Given the description of an element on the screen output the (x, y) to click on. 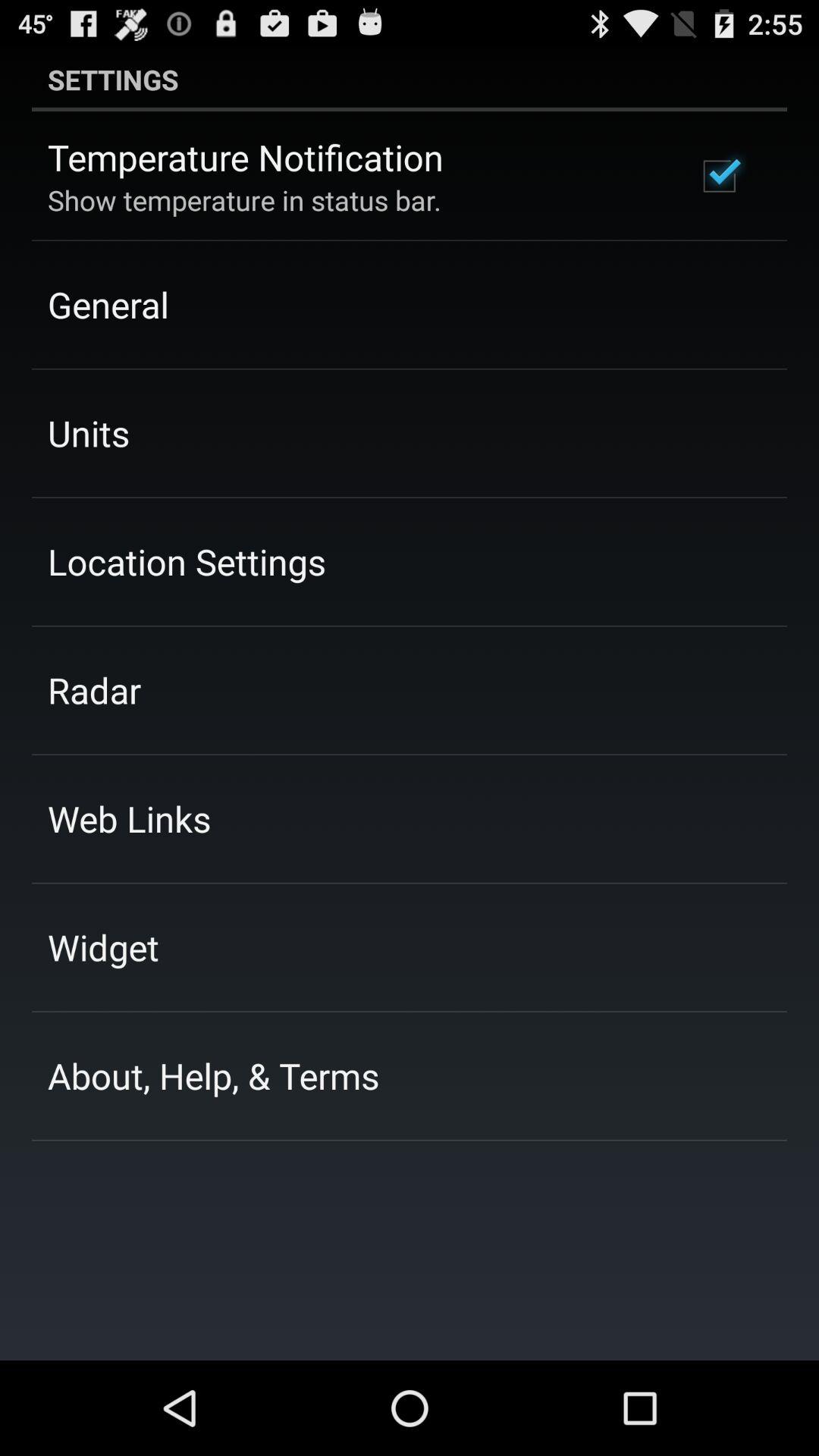
select the general (107, 304)
